Given the description of an element on the screen output the (x, y) to click on. 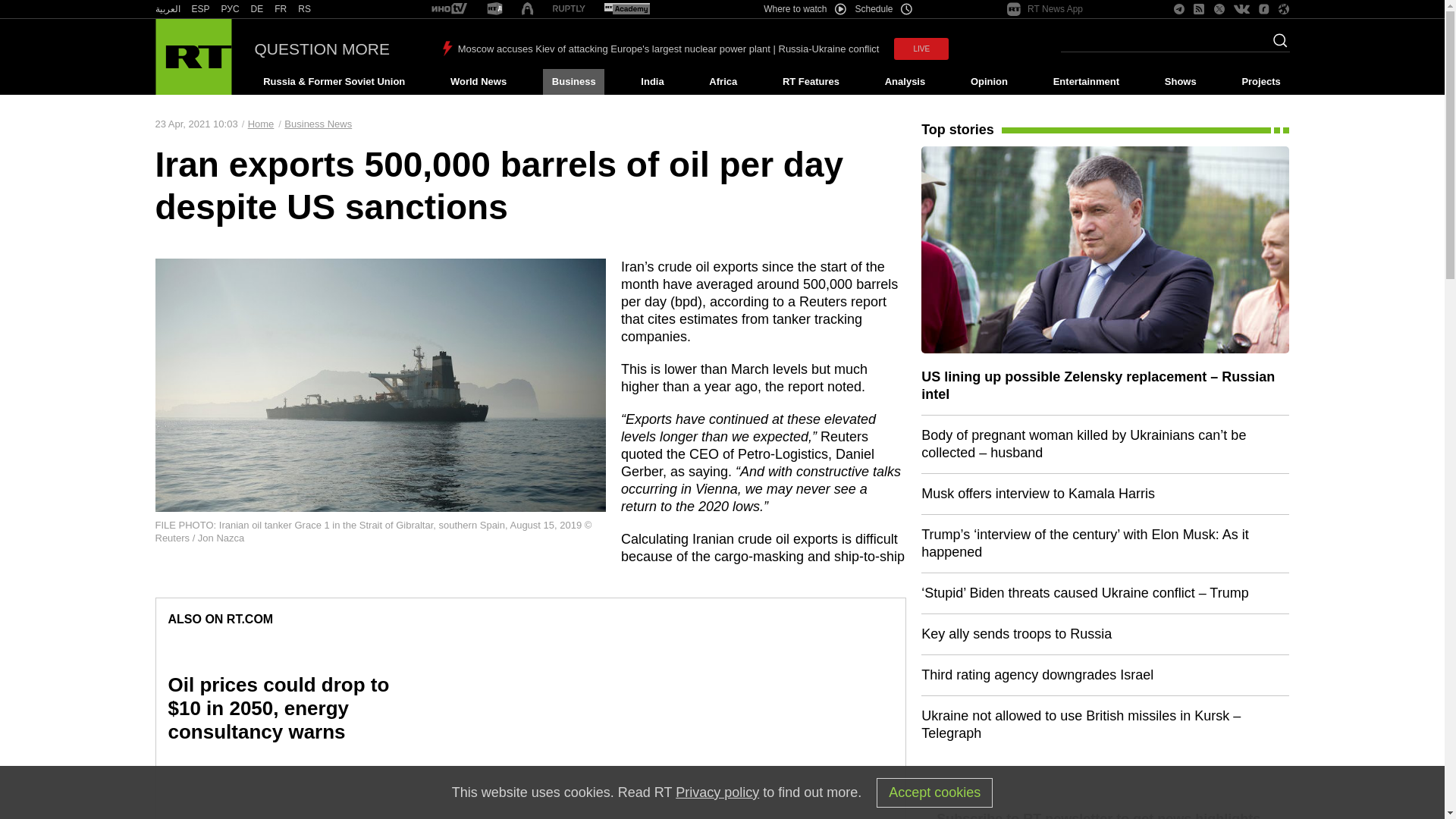
DE (256, 9)
ESP (199, 9)
RT  (230, 9)
Search (1276, 44)
India (651, 81)
Where to watch (803, 9)
LIVE (921, 48)
RS (304, 9)
Projects (1261, 81)
RT News App (1045, 9)
